Given the description of an element on the screen output the (x, y) to click on. 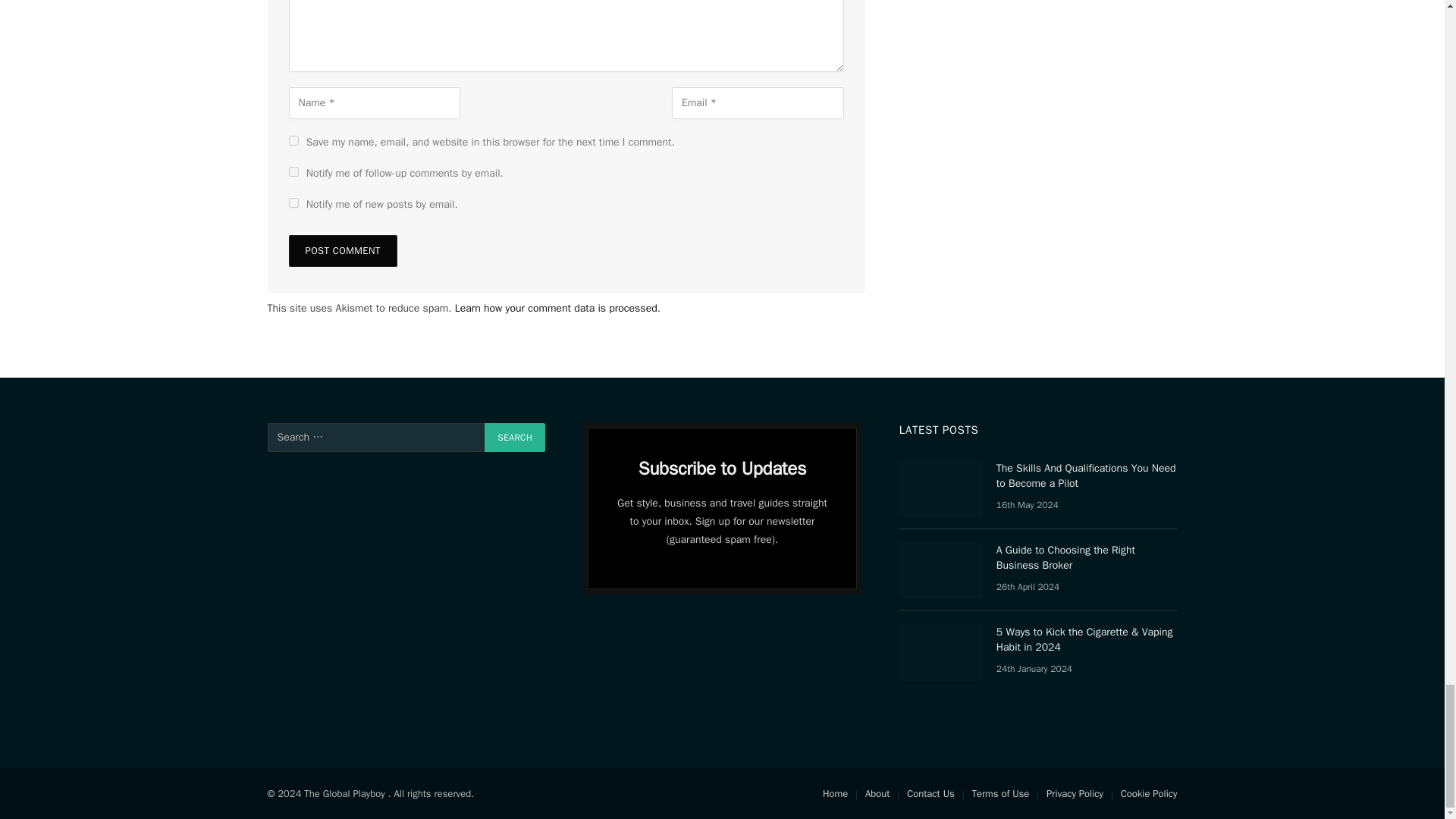
Search (514, 437)
yes (293, 140)
Search (514, 437)
Post Comment (342, 250)
subscribe (293, 171)
subscribe (293, 203)
